Given the description of an element on the screen output the (x, y) to click on. 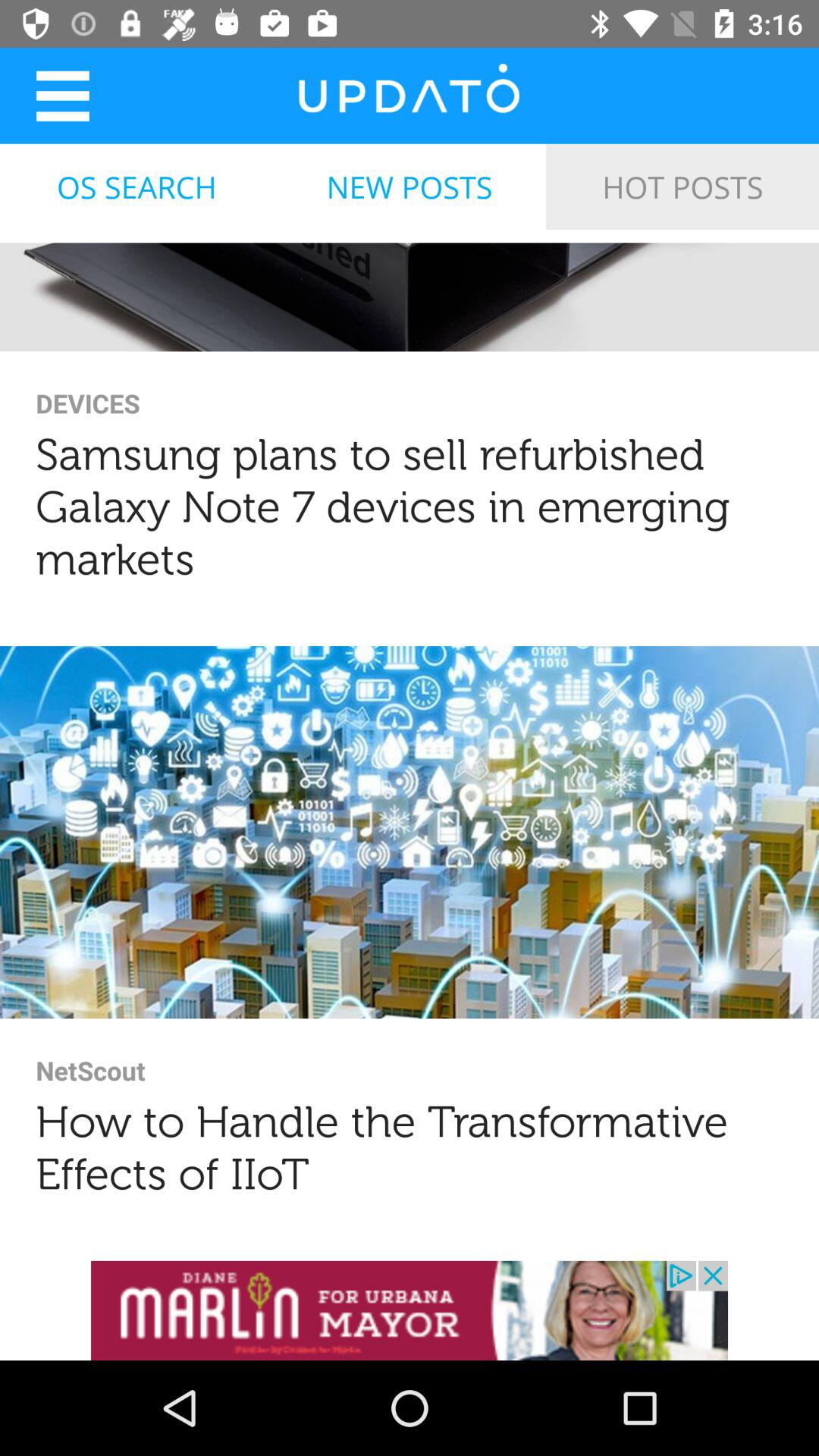
app options (62, 95)
